Given the description of an element on the screen output the (x, y) to click on. 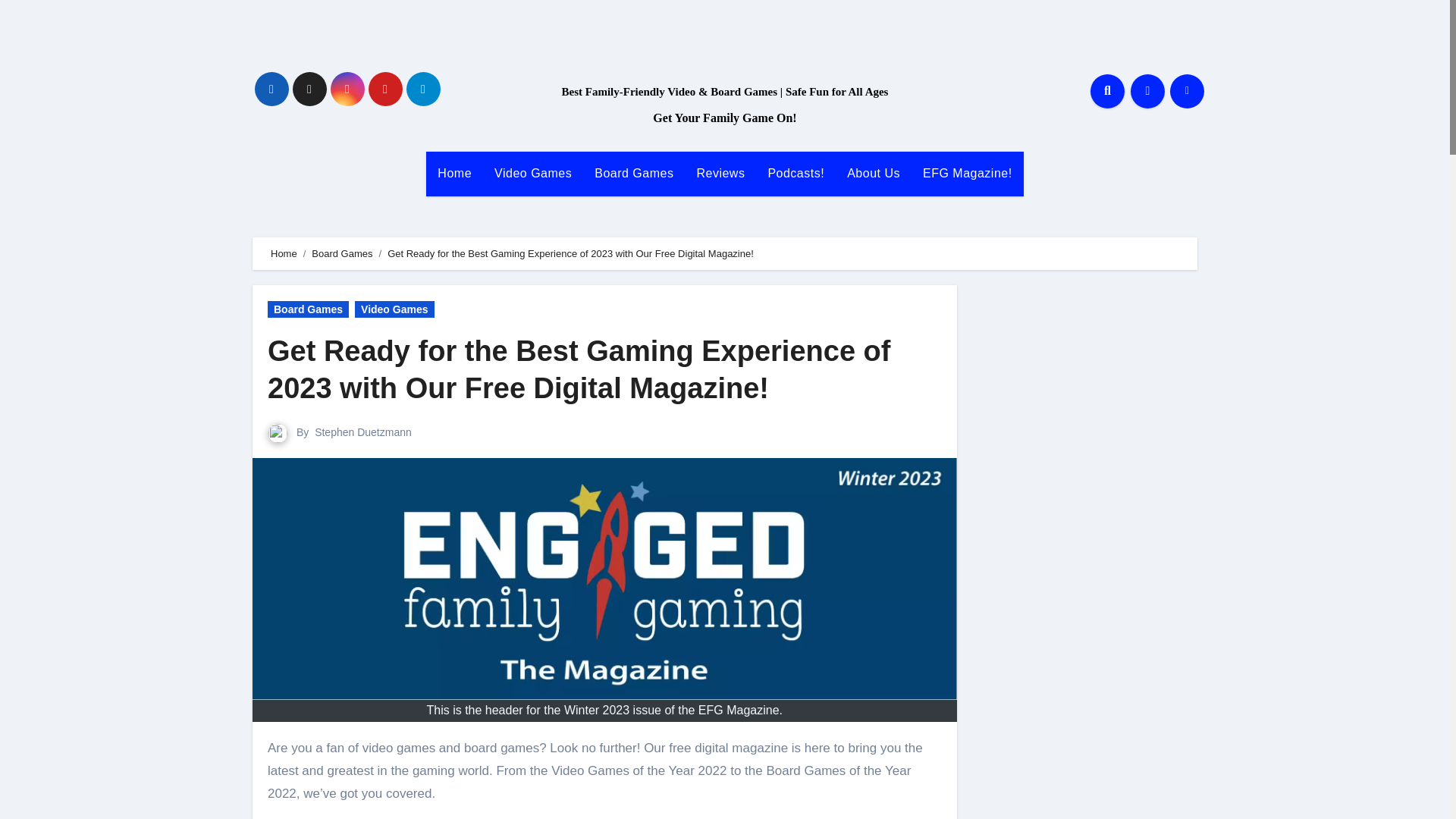
Home (454, 173)
Stephen Duetzmann (363, 431)
Board Games (633, 173)
Video Games (394, 309)
Board Games (308, 309)
Video Games (533, 173)
Home (283, 253)
Video Games (533, 173)
